Given the description of an element on the screen output the (x, y) to click on. 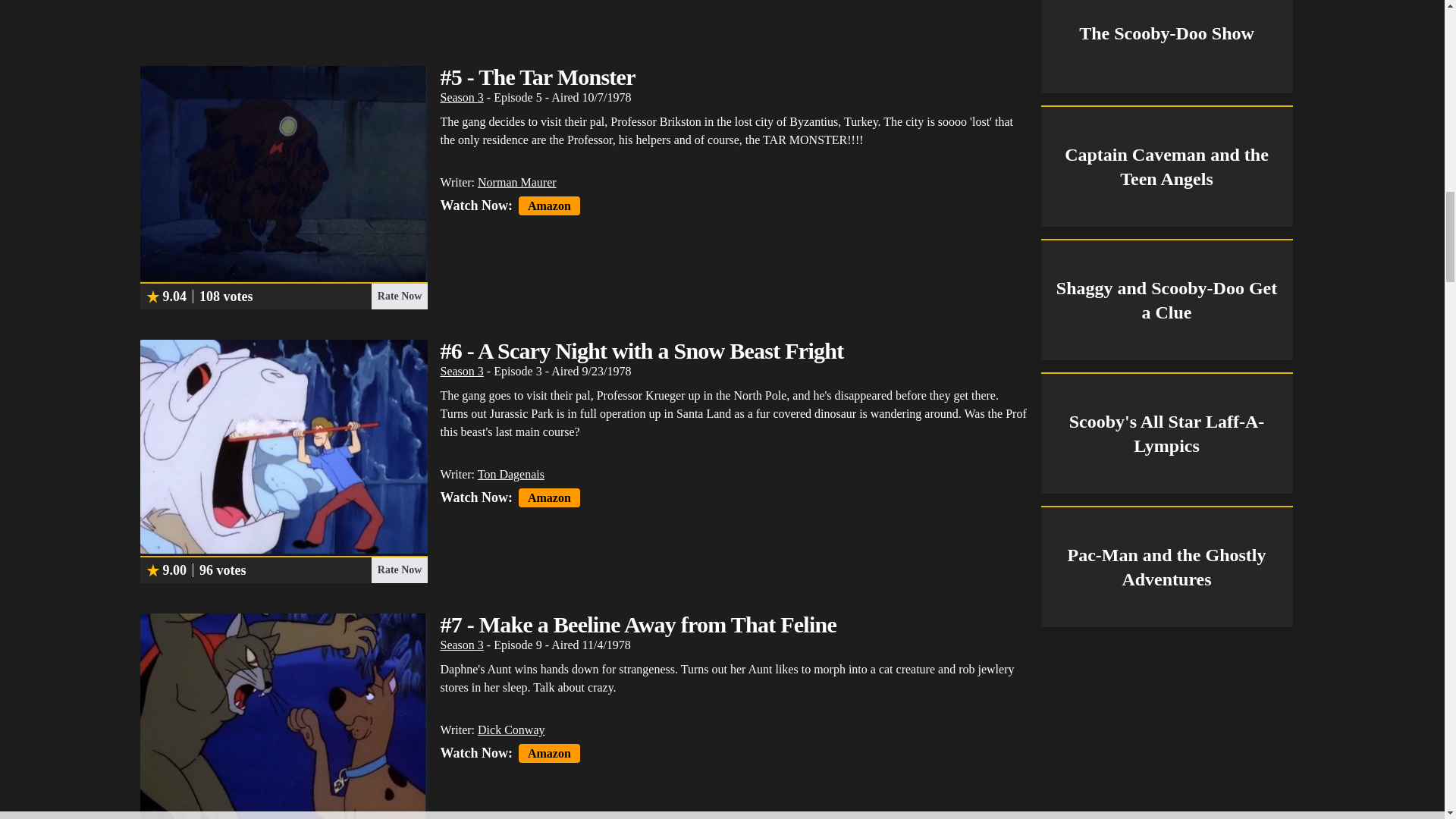
Amazon (548, 497)
Season 3 (461, 97)
Amazon (548, 205)
Ton Dagenais (510, 473)
Season 3 (461, 644)
Season 3 (461, 370)
Norman Maurer (516, 182)
Rate Now (399, 570)
Rate Now (399, 296)
